Given the description of an element on the screen output the (x, y) to click on. 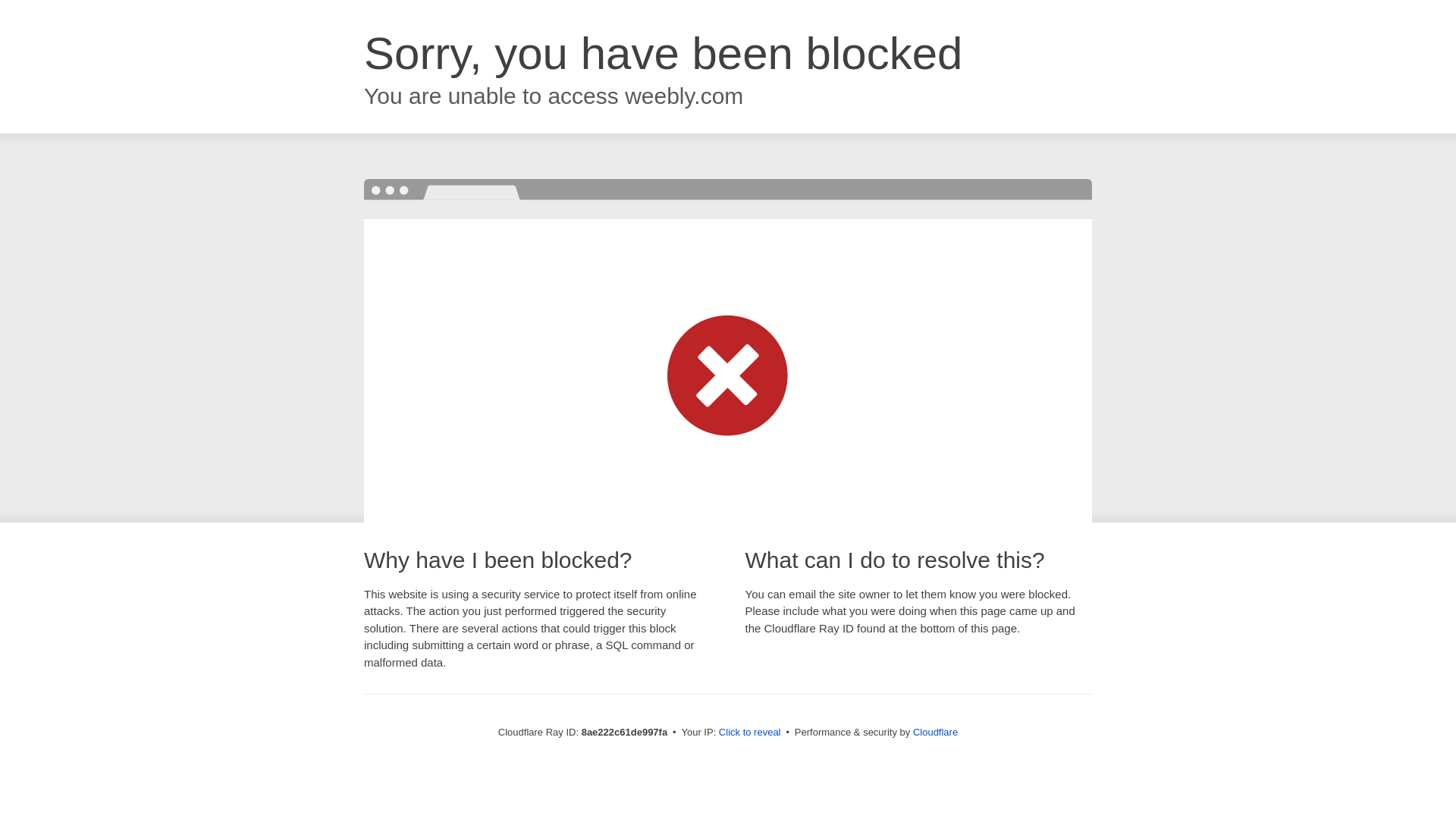
Cloudflare (935, 731)
Click to reveal (749, 732)
